Given the description of an element on the screen output the (x, y) to click on. 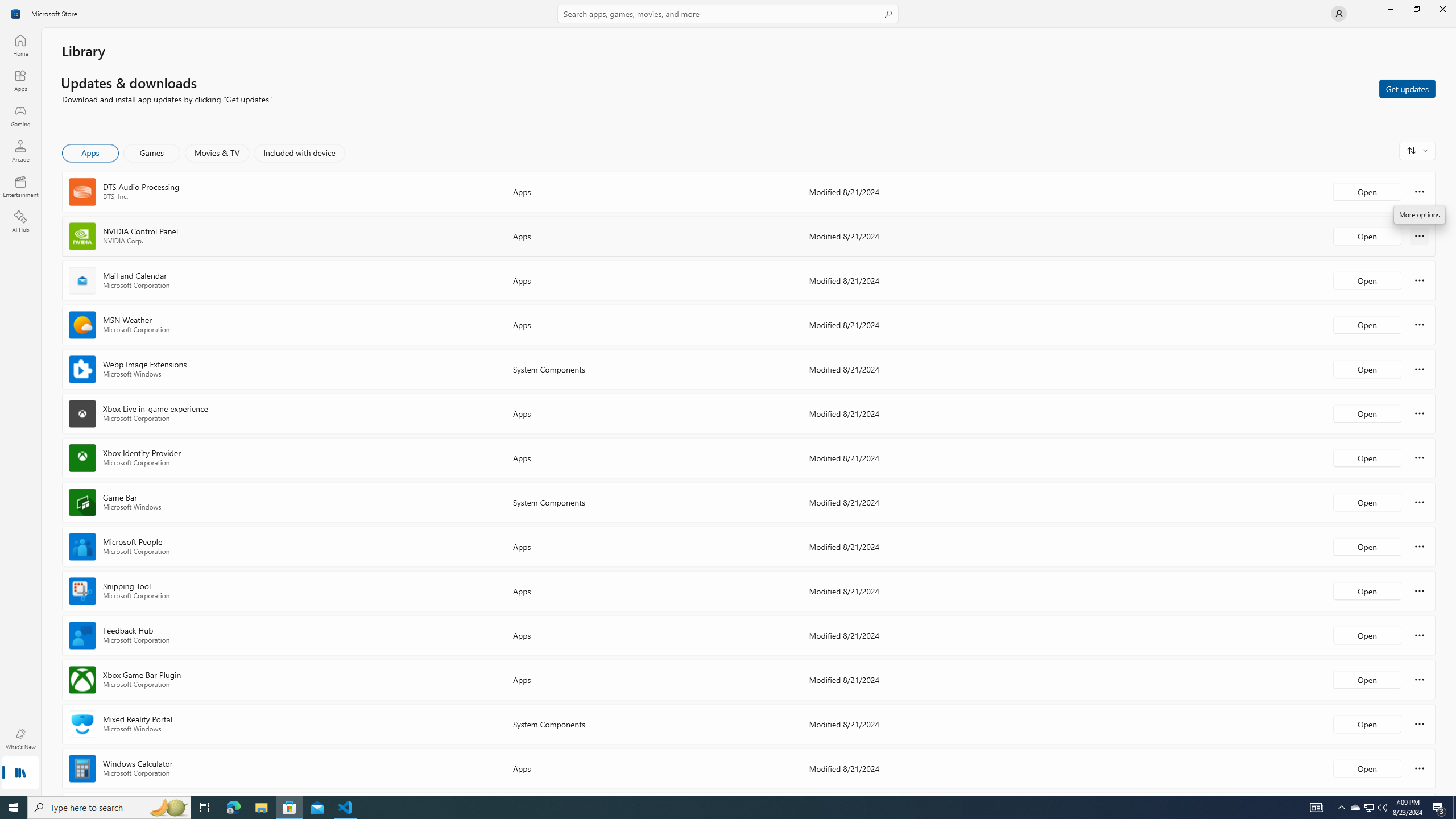
Minimize Microsoft Store (1390, 9)
Close Microsoft Store (1442, 9)
AI Hub (20, 221)
Apps (20, 80)
Movies & TV (216, 153)
Open (1366, 768)
Apps (90, 153)
Included with device (299, 153)
